Given the description of an element on the screen output the (x, y) to click on. 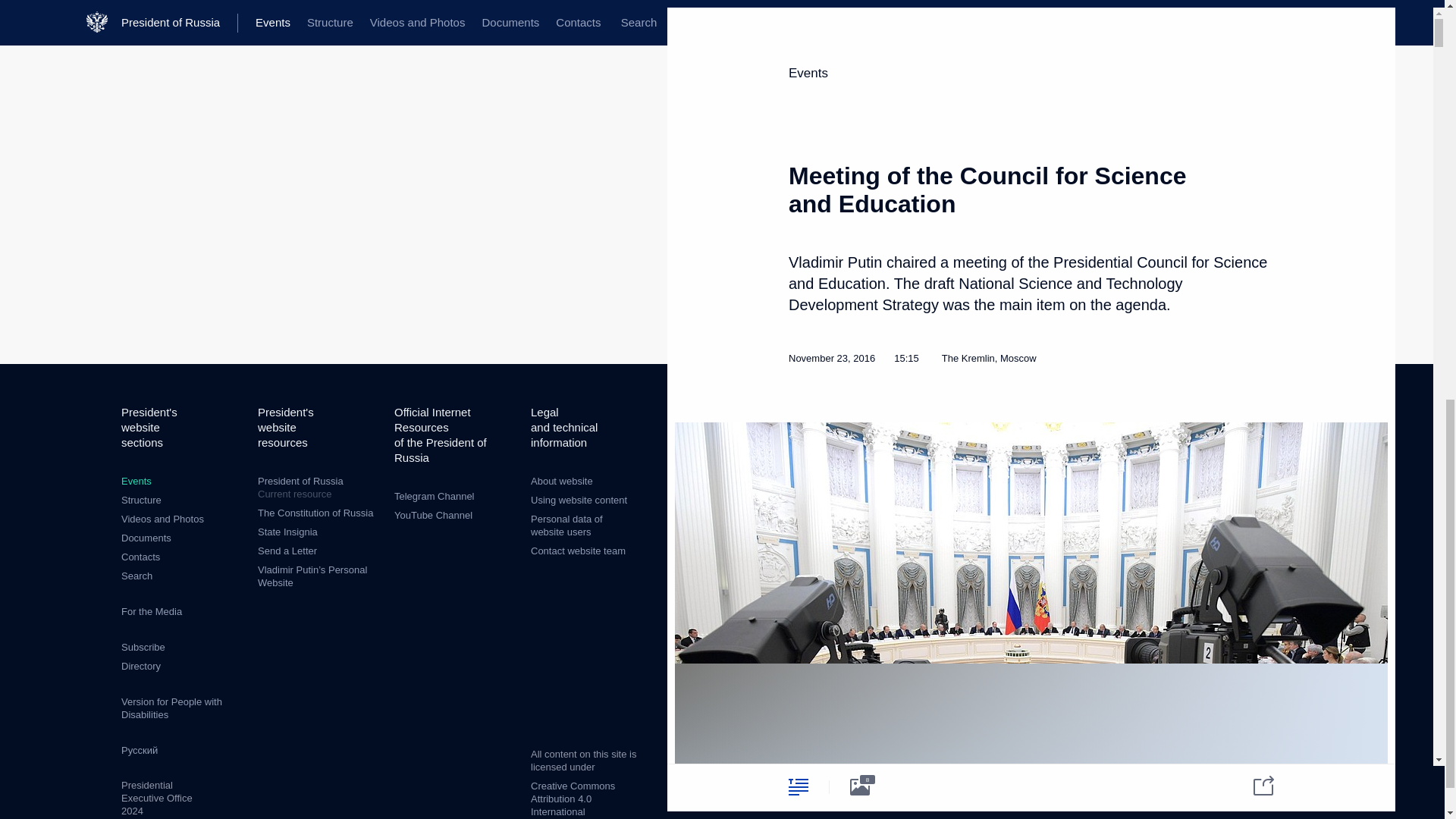
State Insignia (287, 531)
Directory (140, 665)
For the Media (151, 611)
About website (561, 480)
The Constitution of Russia (314, 512)
News of Council for Science and Education (1203, 493)
Creative Commons Attribution 4.0 International (572, 798)
Send a Letter (287, 550)
Documents (145, 537)
Using website content (579, 500)
